Given the description of an element on the screen output the (x, y) to click on. 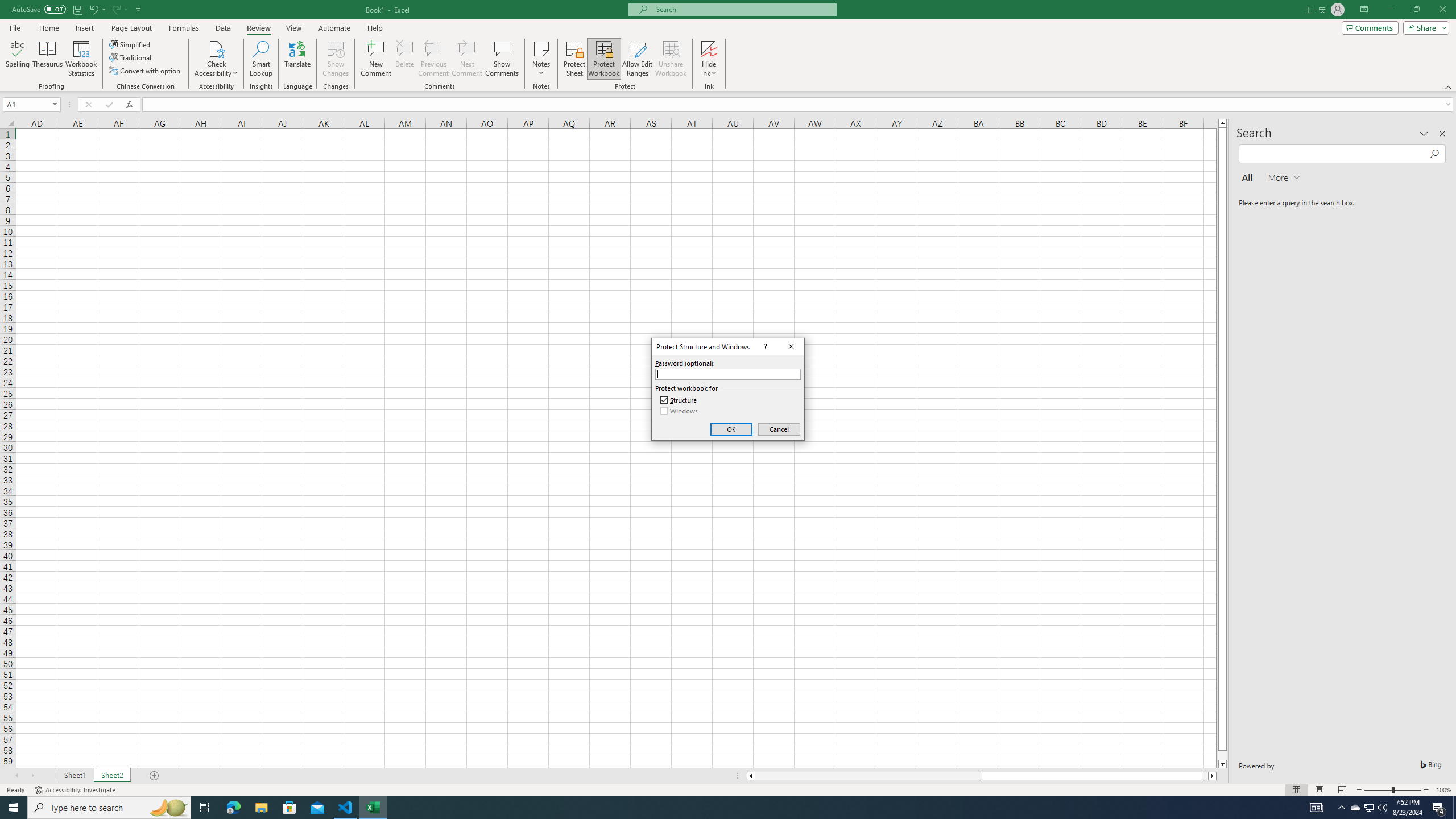
Protect Sheet... (574, 58)
Show Changes (335, 58)
Show desktop (1454, 807)
OK (731, 429)
Notes (541, 58)
Sheet2 (112, 775)
Context help (764, 346)
Traditional (131, 56)
